Given the description of an element on the screen output the (x, y) to click on. 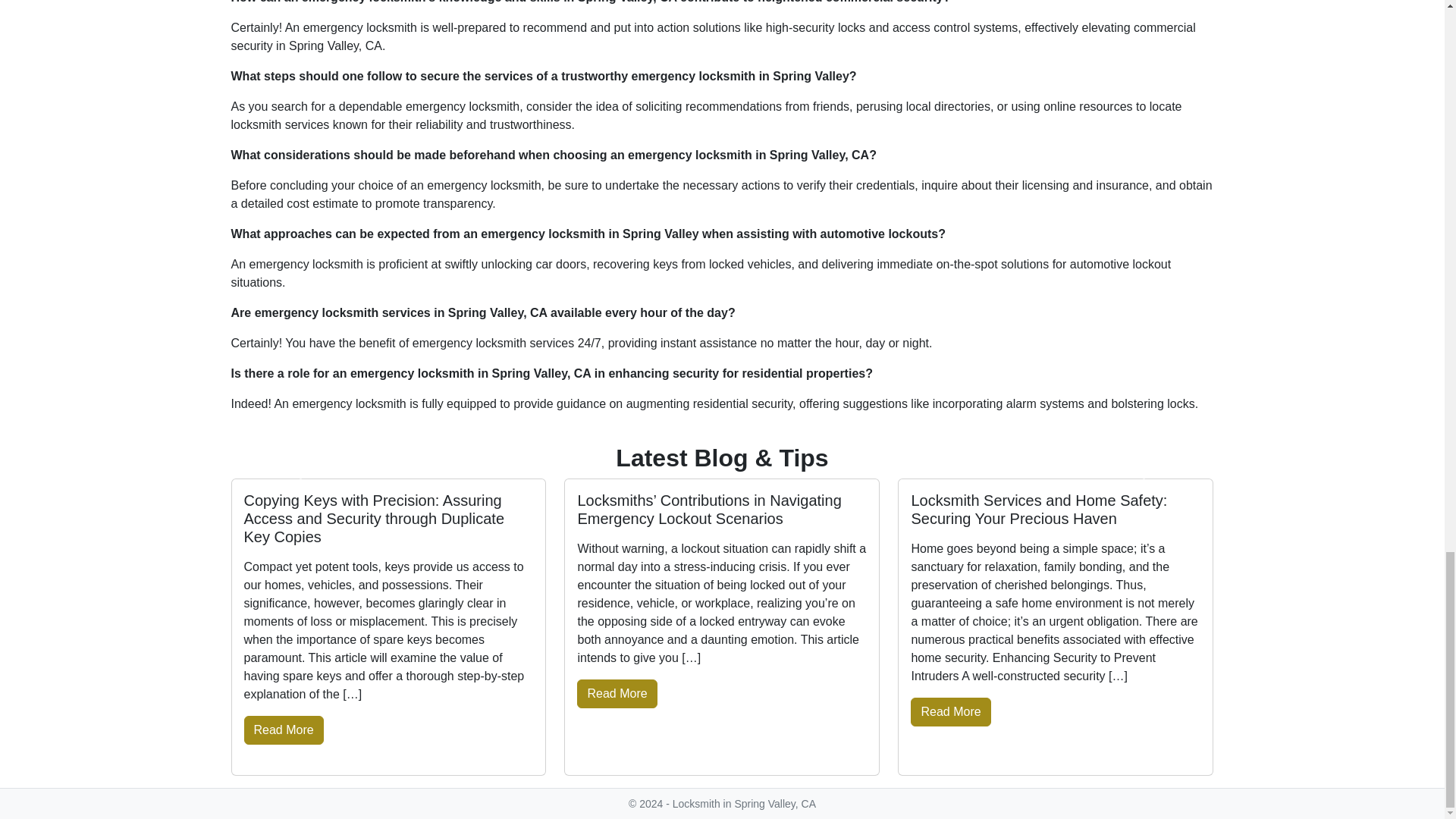
Read More (283, 729)
Read More (950, 711)
Read More (616, 693)
